Given the description of an element on the screen output the (x, y) to click on. 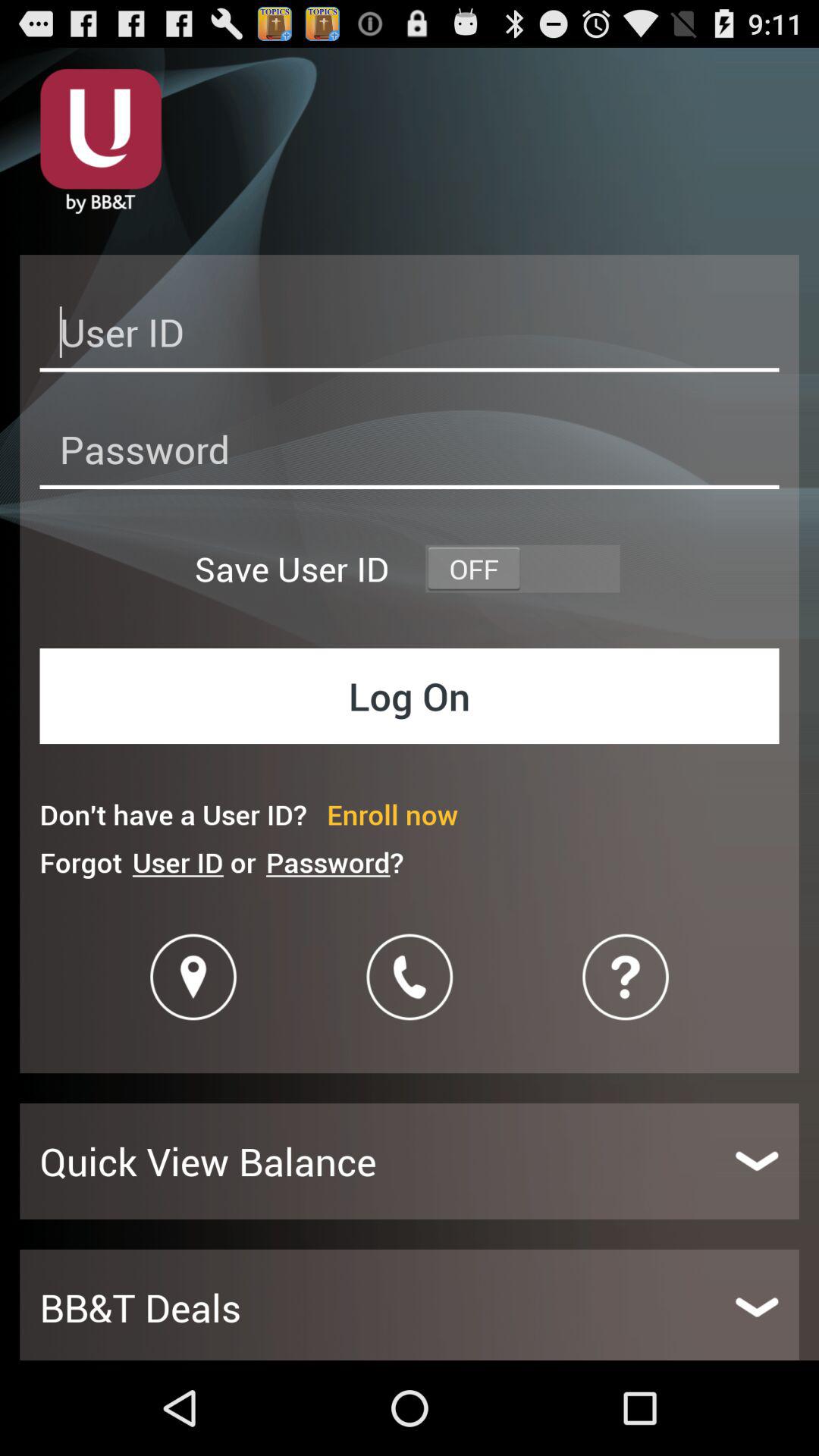
launch log on button (409, 695)
